Given the description of an element on the screen output the (x, y) to click on. 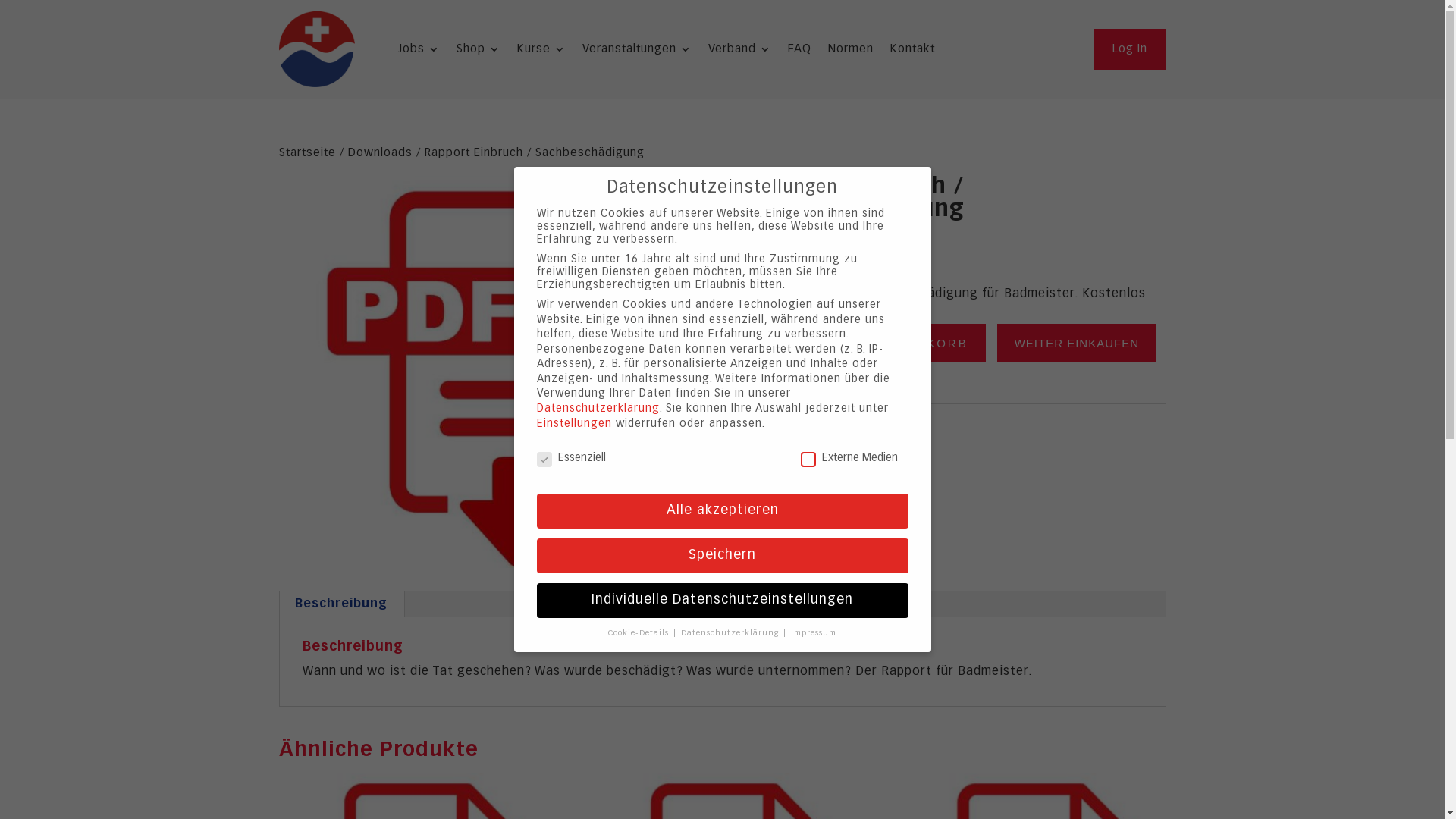
Downloads Element type: text (379, 152)
Kurse Element type: text (541, 51)
FAQ Element type: text (799, 51)
Einstellungen Element type: text (573, 423)
Verband Element type: text (739, 51)
Speichern Element type: text (722, 555)
Cookie-Details Element type: text (639, 633)
Kontakt Element type: text (912, 51)
Startseite Element type: text (307, 152)
Beschreibung Element type: text (340, 604)
Downloads Element type: text (831, 419)
Individuelle Datenschutzeinstellungen Element type: text (722, 600)
Alle akzeptieren Element type: text (722, 510)
Log In Element type: text (1129, 49)
WEITER EINKAUFEN Element type: text (1076, 342)
Shop Element type: text (478, 51)
IN DEN WARENKORB Element type: text (891, 342)
Jobs Element type: text (418, 51)
Normen Element type: text (850, 51)
cropped-logo_vector.png Element type: hover (316, 49)
Veranstaltungen Element type: text (636, 51)
Impressum Element type: text (813, 633)
